Given the description of an element on the screen output the (x, y) to click on. 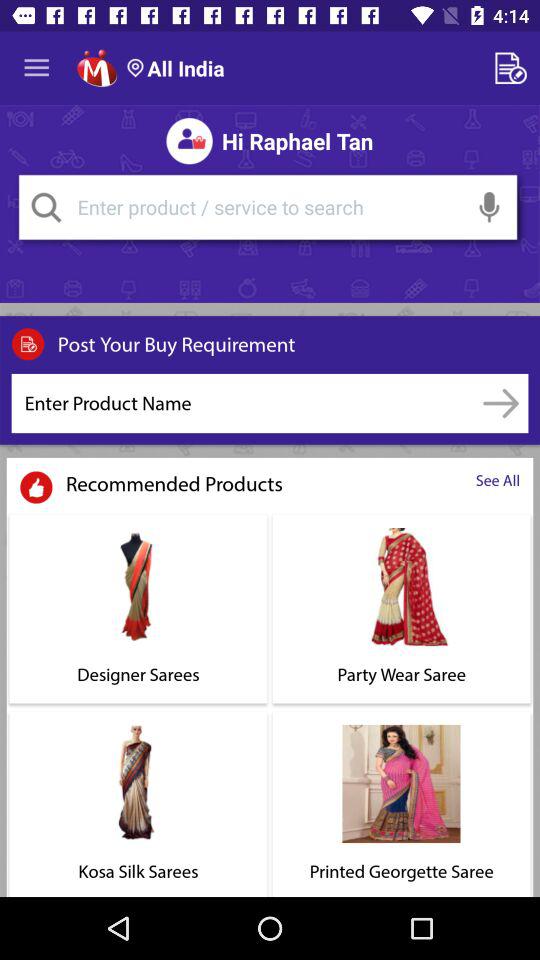
search button (45, 207)
